Given the description of an element on the screen output the (x, y) to click on. 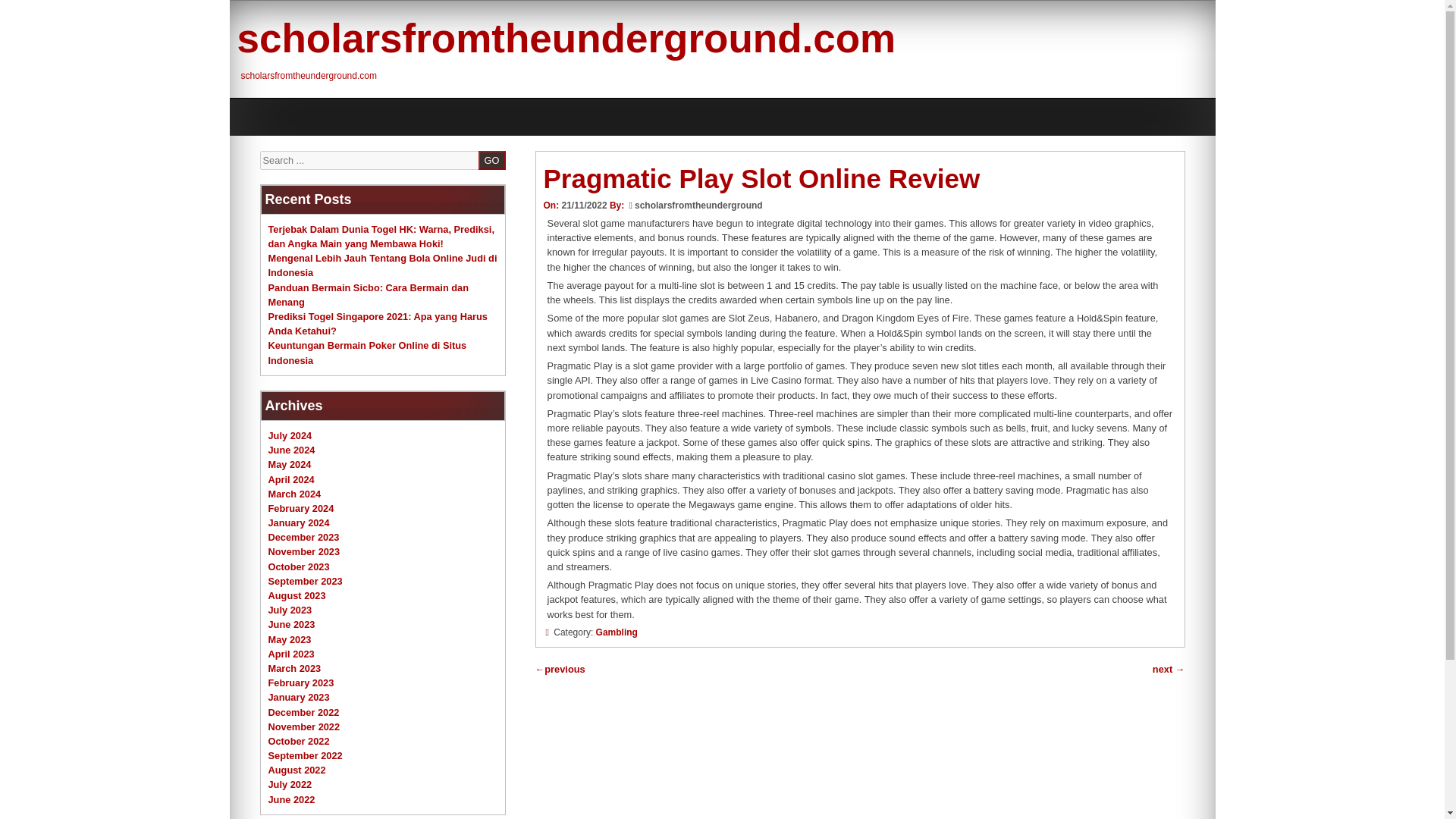
June 2024 (291, 449)
August 2023 (296, 595)
November 2022 (303, 726)
March 2023 (294, 668)
scholarsfromtheunderground.com (565, 37)
April 2024 (290, 478)
December 2022 (303, 712)
February 2024 (300, 508)
April 2023 (290, 654)
December 2023 (303, 536)
GO (492, 158)
July 2024 (290, 435)
September 2022 (304, 755)
January 2023 (298, 696)
GO (492, 158)
